Given the description of an element on the screen output the (x, y) to click on. 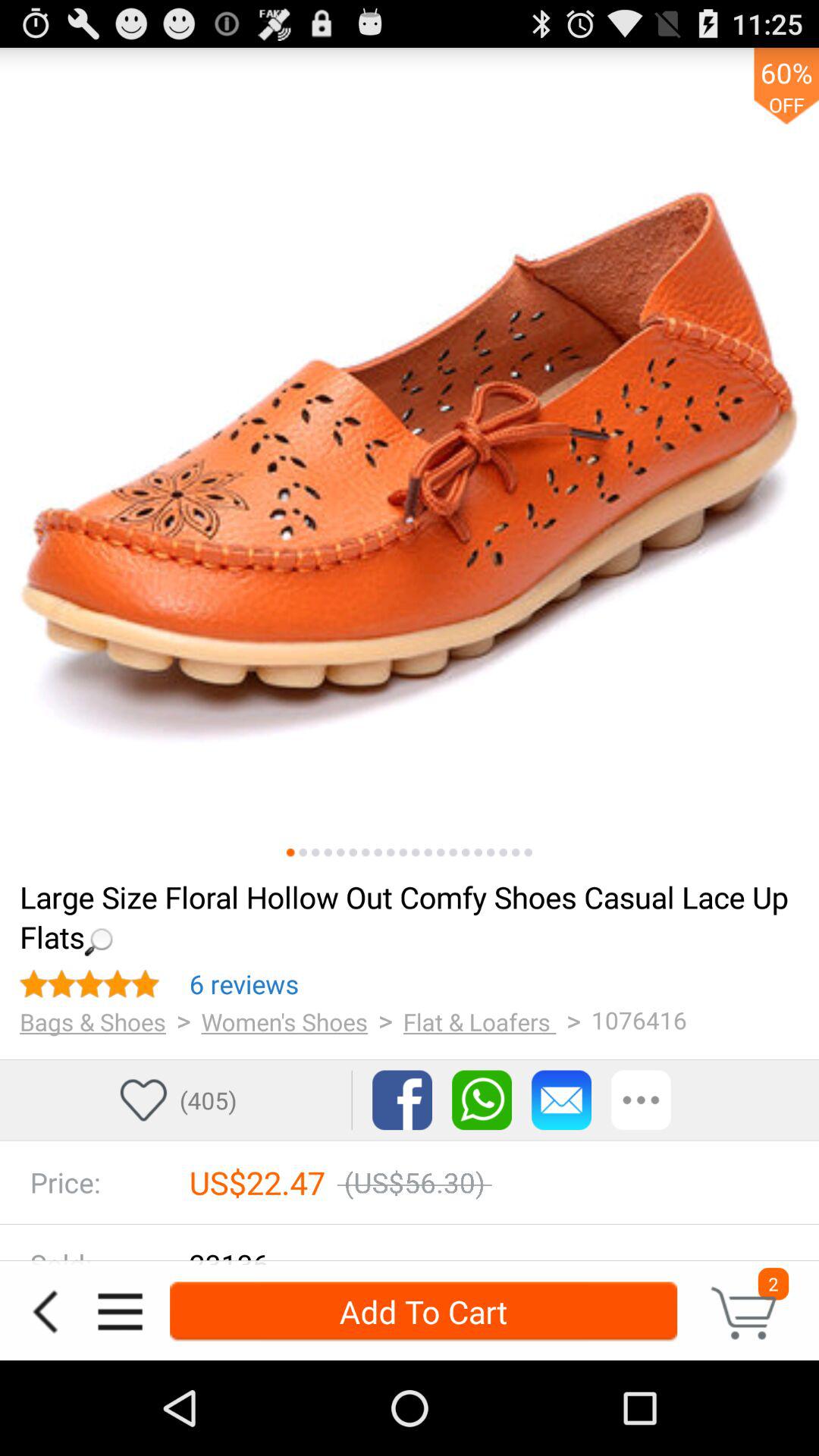
more pictures (453, 852)
